Given the description of an element on the screen output the (x, y) to click on. 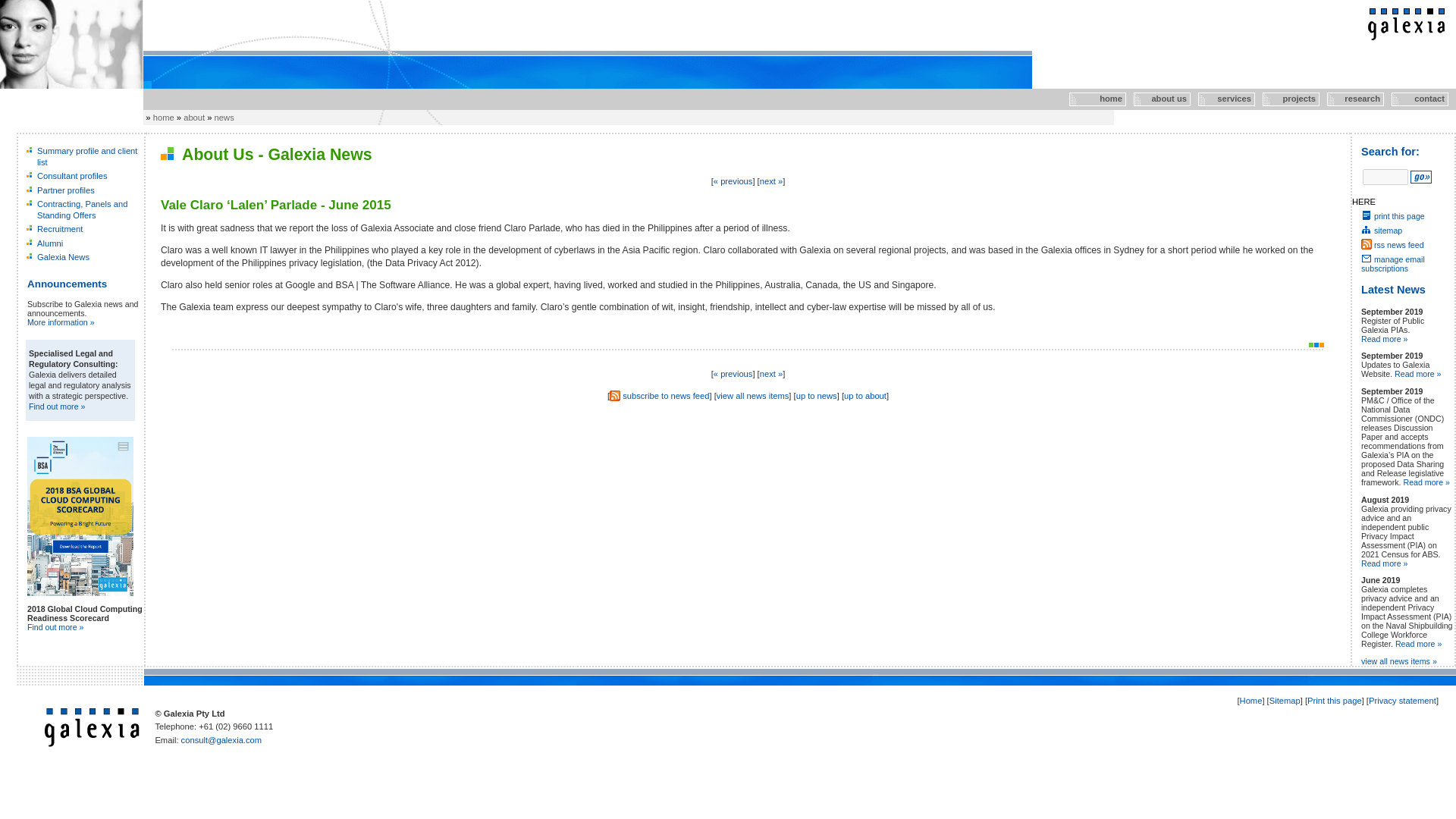
             home (1095, 98)
about (194, 117)
print this page (1393, 215)
Latest News (1393, 289)
view all news items (752, 395)
          contact (1417, 98)
subscribe to news feed (666, 395)
        projects (1289, 98)
Galexia News (62, 256)
Partner profiles (65, 189)
